Given the description of an element on the screen output the (x, y) to click on. 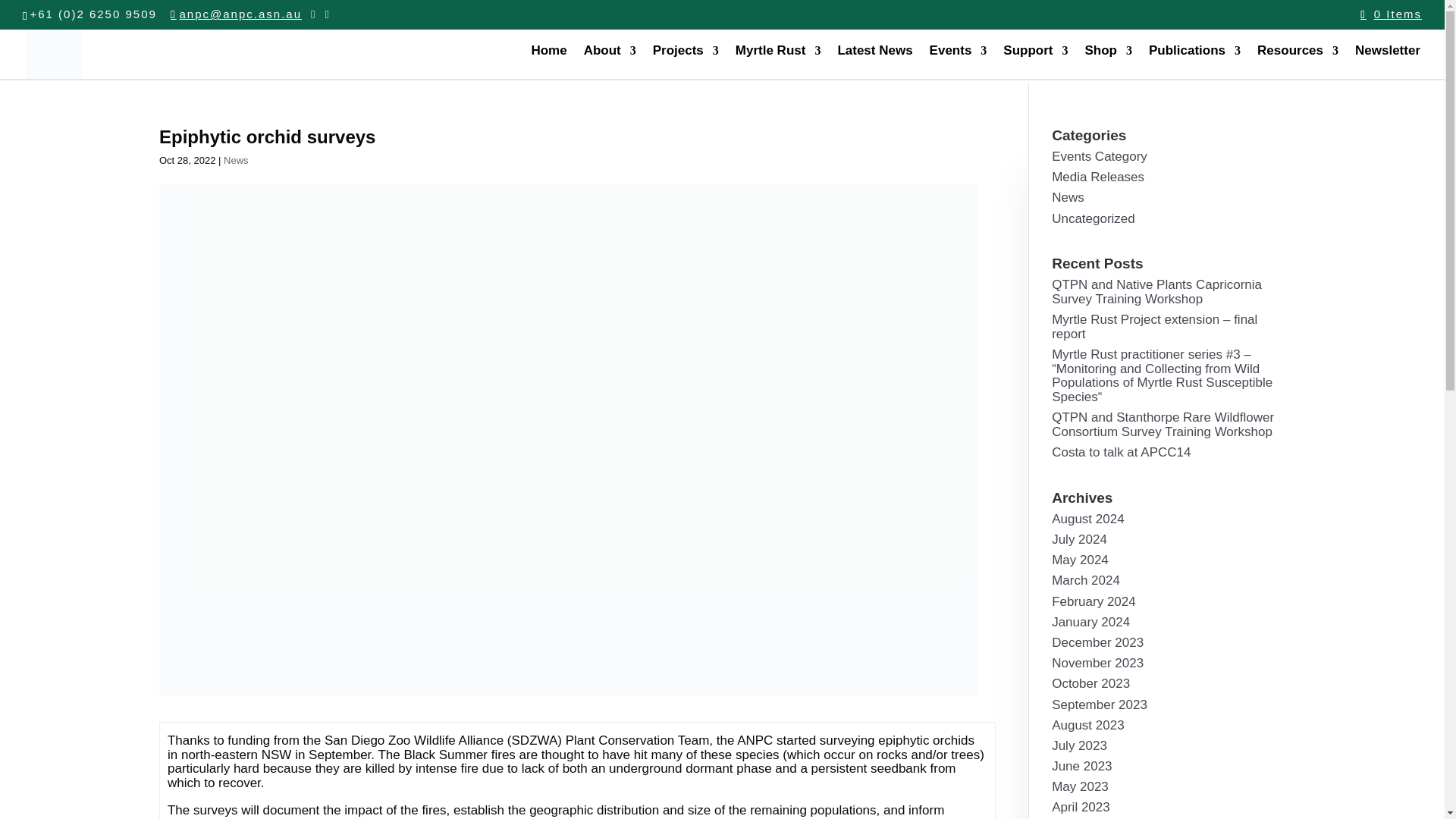
Home (548, 61)
About (609, 61)
Projects (685, 61)
0 Items (1390, 13)
